Given the description of an element on the screen output the (x, y) to click on. 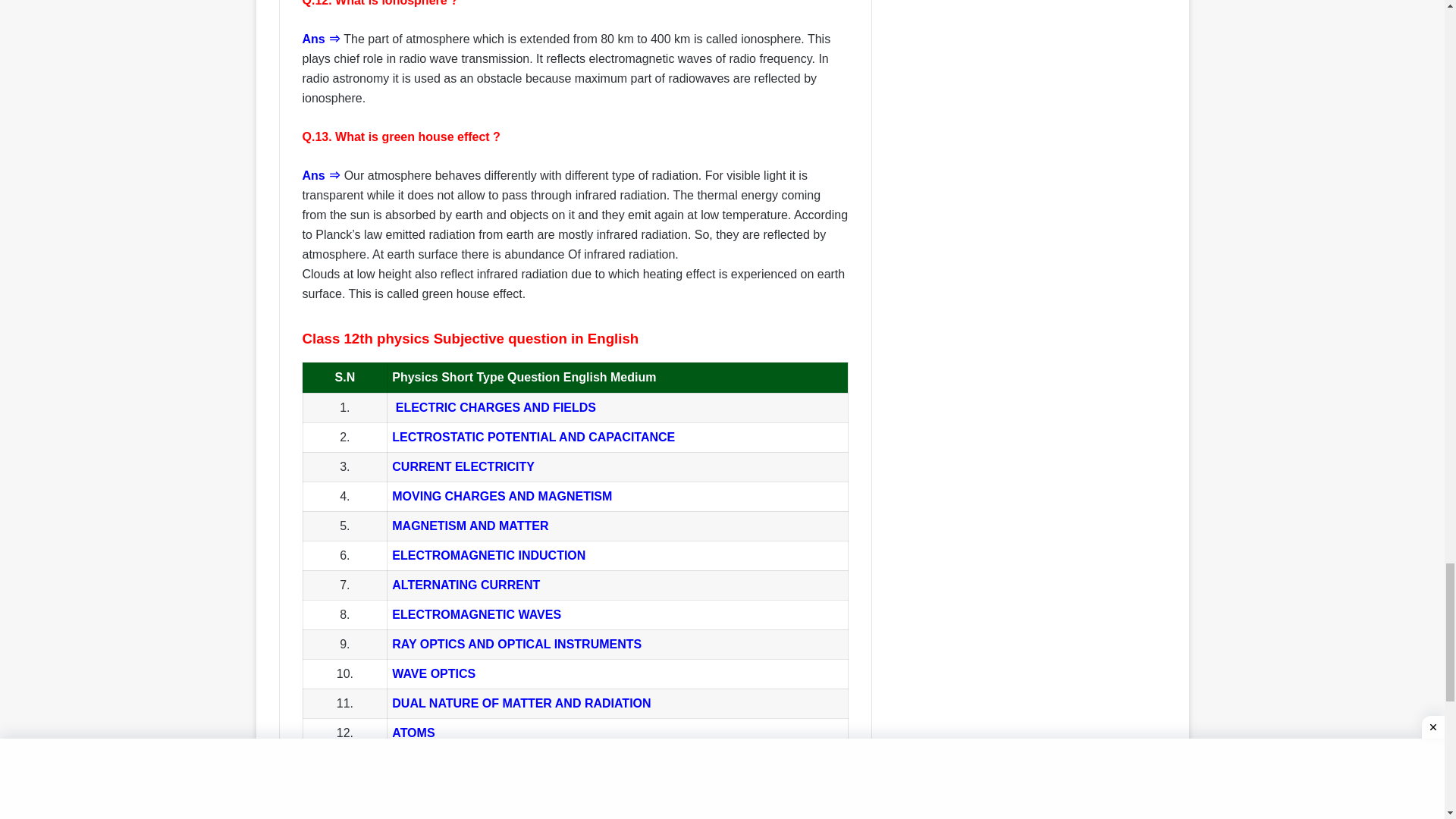
CURRENT ELECTRICITY (462, 466)
SEMI CONDUCTOR ELECTRONICS  (493, 791)
LECTROSTATIC POTENTIAL AND CAPACITANCE (533, 436)
NUCLEI (414, 762)
ALTERNATING CURRENT (465, 584)
MOVING CHARGES AND MAGNETISM (501, 495)
ELECTROMAGNETIC WAVES (475, 614)
ATOMS (412, 732)
WAVE OPTICS (433, 673)
MAGNETISM AND MATTER (469, 525)
DUAL NATURE OF MATTER AND RADIATION (520, 703)
ELECTROMAGNETIC INDUCTION (488, 554)
RAY OPTICS AND OPTICAL INSTRUMENTS (516, 644)
 ELECTRIC CHARGES AND FIELDS (493, 407)
